Given the description of an element on the screen output the (x, y) to click on. 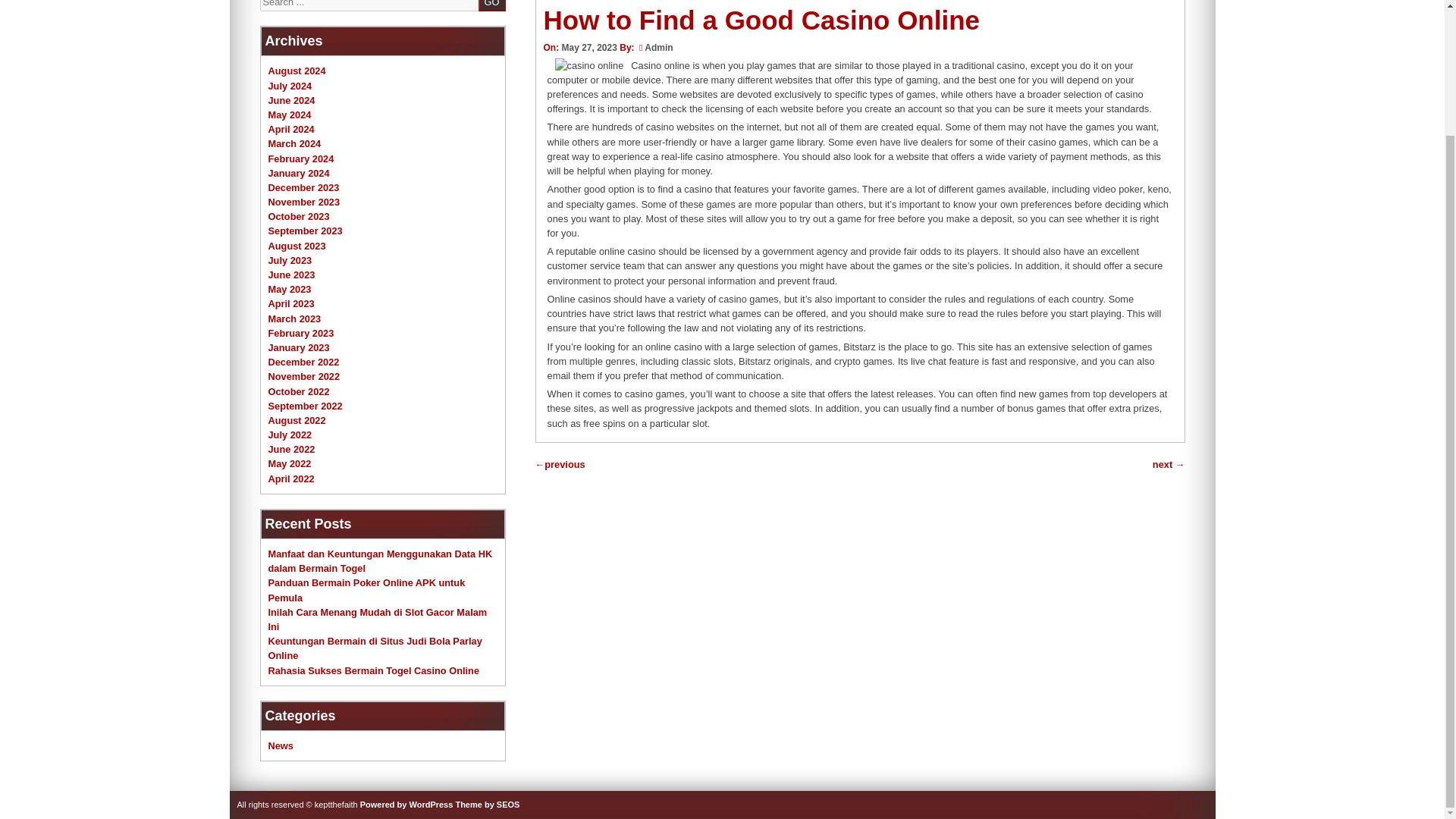
February 2023 (300, 333)
April 2024 (290, 129)
May 27, 2023 (587, 47)
March 2024 (294, 143)
May 2024 (289, 114)
June 2022 (291, 449)
Admin (658, 47)
May 2022 (289, 463)
March 2023 (294, 318)
September 2023 (304, 230)
